Given the description of an element on the screen output the (x, y) to click on. 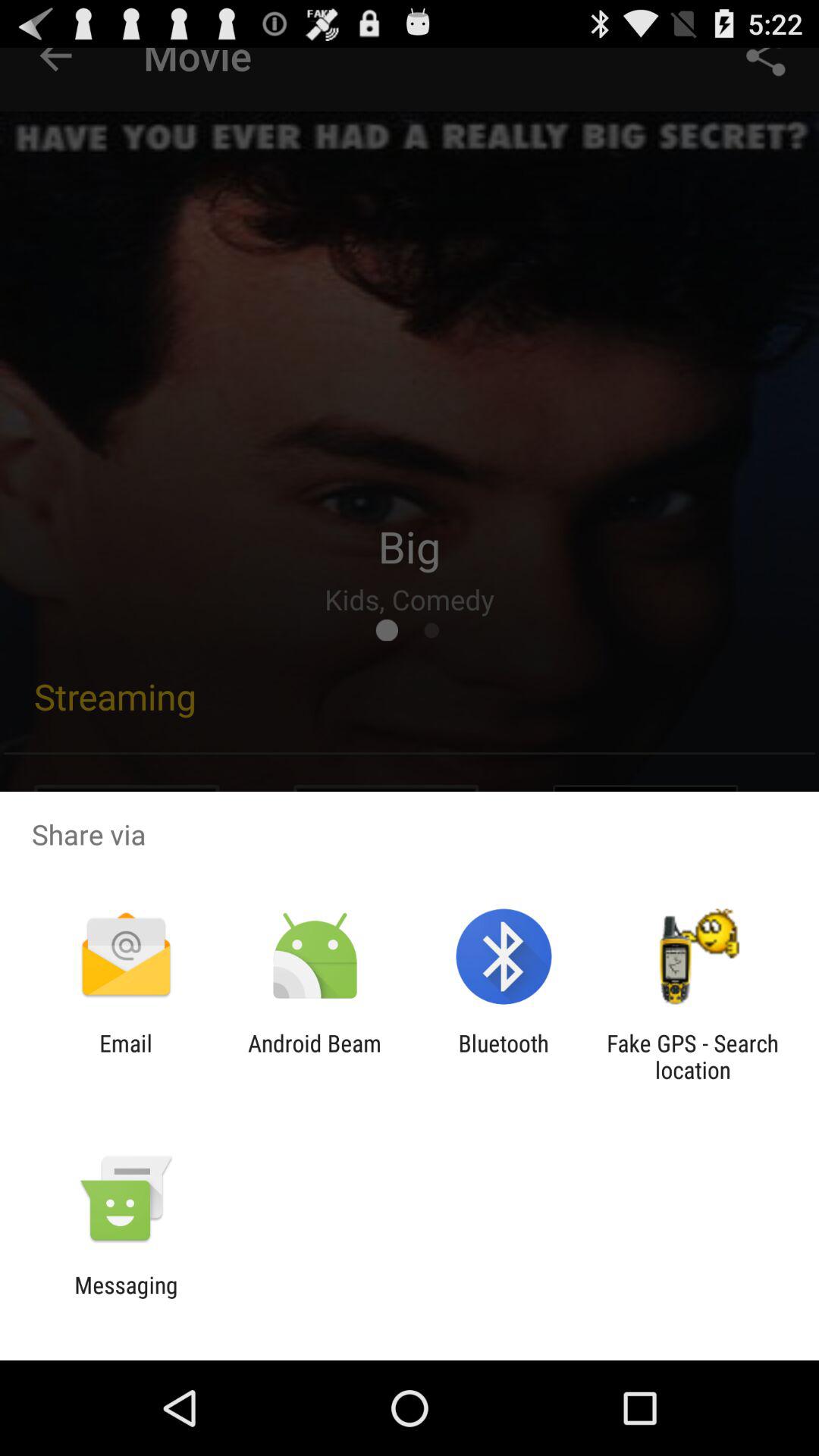
tap item to the right of android beam icon (503, 1056)
